Given the description of an element on the screen output the (x, y) to click on. 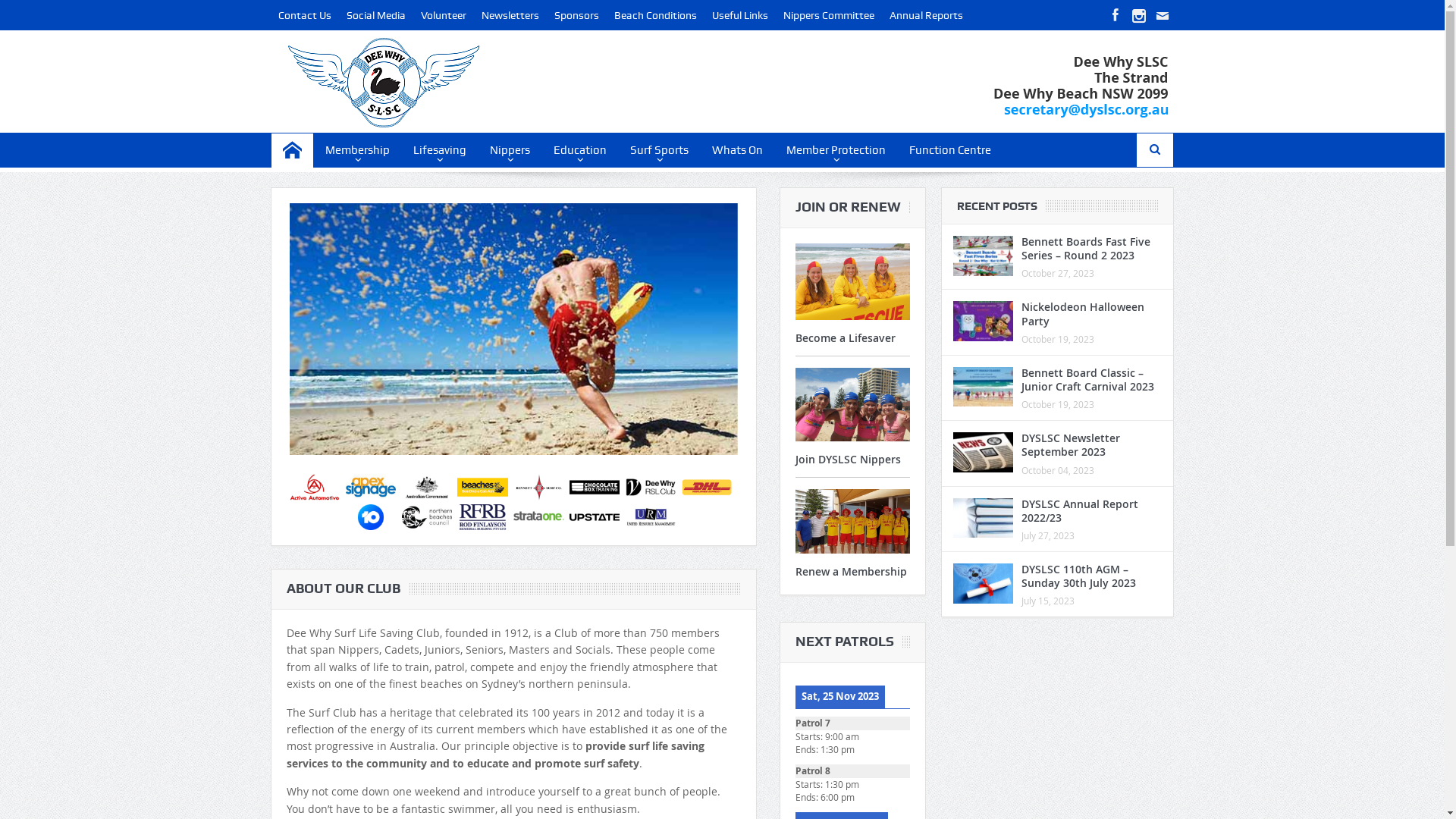
Function Centre Element type: text (949, 149)
Education Element type: text (580, 149)
Membership Element type: text (357, 149)
Volunteer Element type: text (443, 15)
Social Media Element type: text (375, 15)
Useful Links Element type: text (739, 15)
Renew a Membership Element type: text (850, 571)
Become a Lifesaver Element type: text (844, 337)
DYSLSC Newsletter September 2023 Element type: text (1070, 444)
Lifesaving Element type: text (439, 149)
Nickelodeon Halloween Party Element type: text (1082, 313)
Contact Us Element type: text (304, 15)
Beach Conditions Element type: text (655, 15)
Annual Reports Element type: text (925, 15)
Whats On Element type: text (737, 149)
Member Protection Element type: text (836, 149)
Nippers Element type: text (509, 149)
DYSLSC Annual Report 2022/23 Element type: text (1079, 509)
Join DYSLSC Nippers Element type: text (847, 458)
Nippers Committee Element type: text (828, 15)
Newsletters Element type: text (509, 15)
Sponsors Element type: text (576, 15)
Surf Sports Element type: text (658, 149)
